Given the description of an element on the screen output the (x, y) to click on. 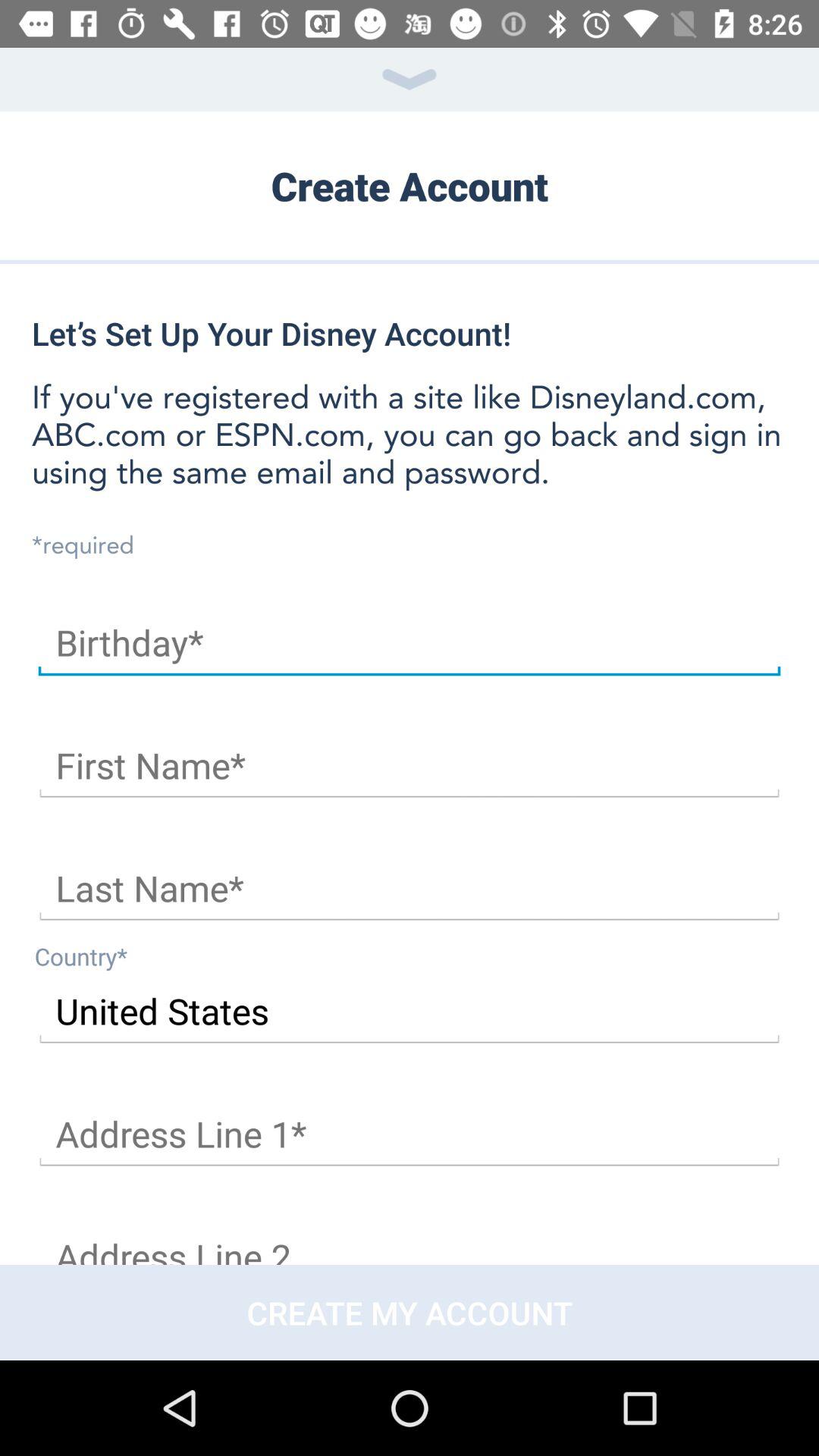
address line or address field (409, 1241)
